Given the description of an element on the screen output the (x, y) to click on. 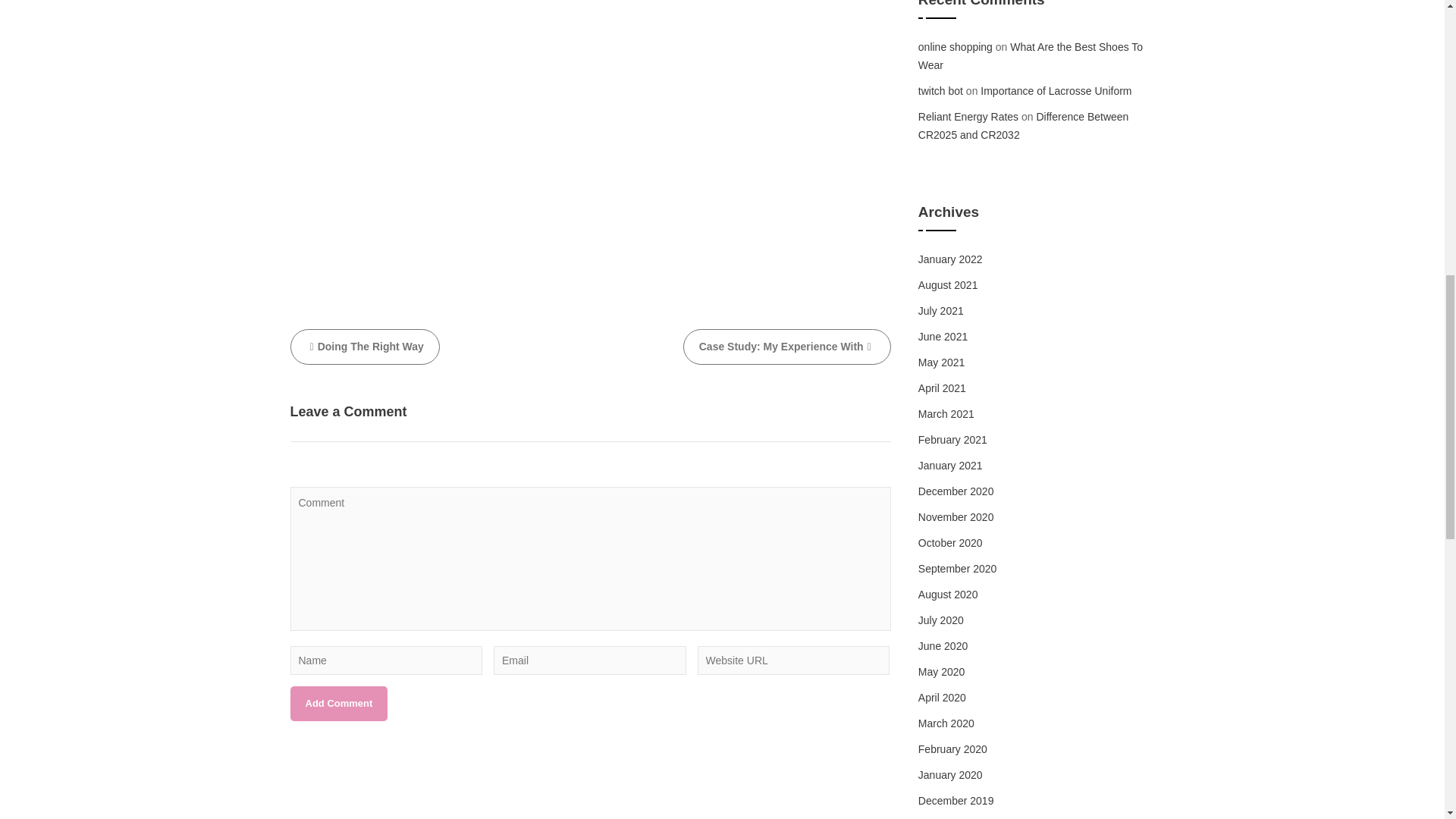
twitch bot (940, 91)
Add Comment (338, 703)
December 2020 (956, 491)
October 2020 (950, 542)
April 2021 (942, 387)
May 2021 (940, 362)
Case Study: My Experience With (786, 346)
January 2021 (950, 465)
March 2021 (946, 413)
August 2021 (948, 285)
